Given the description of an element on the screen output the (x, y) to click on. 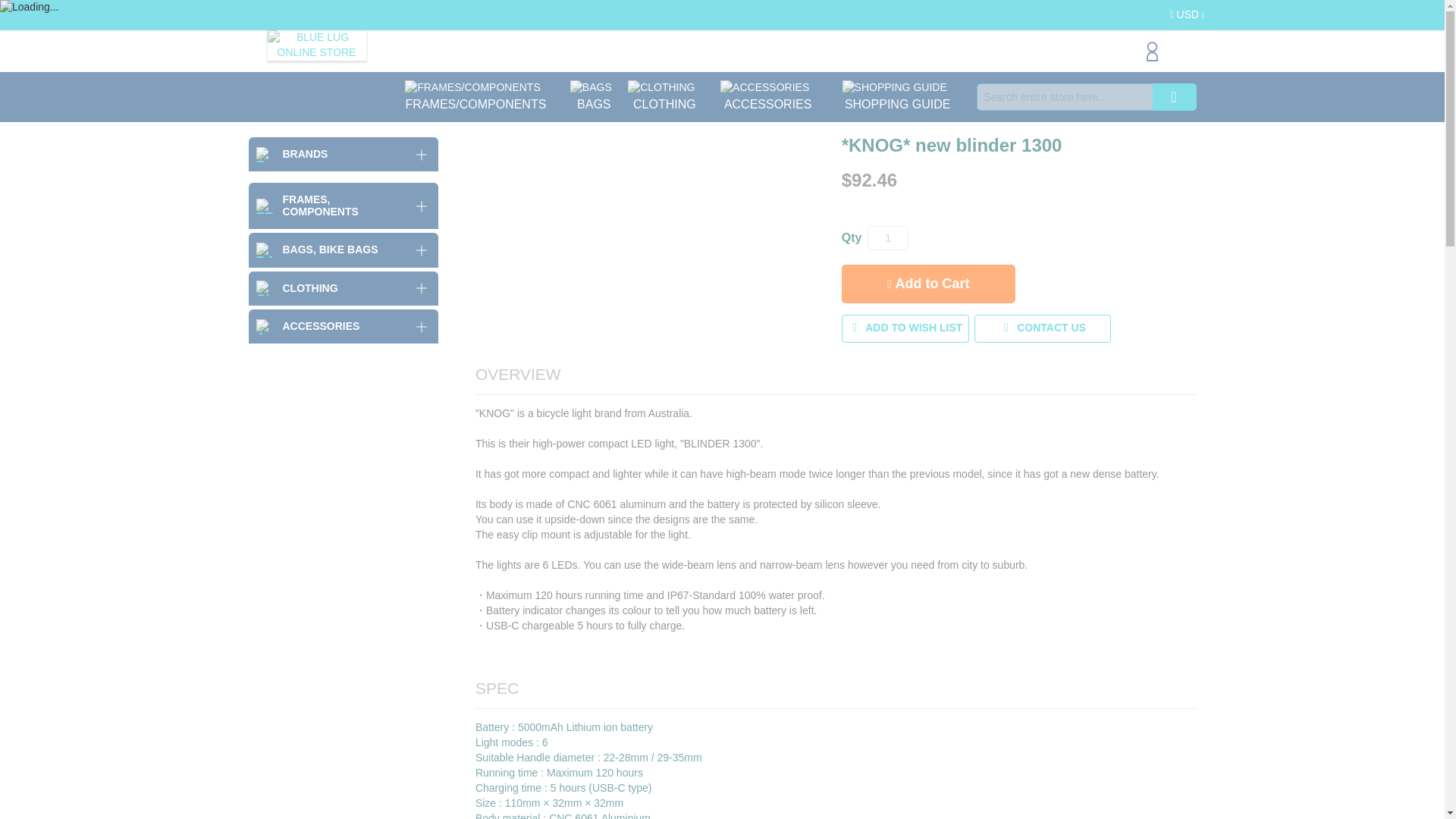
Qty (887, 238)
Search (1174, 96)
BLUE LUG ONLINE STORE (315, 45)
BAGS (590, 96)
BLUE LUG ONLINE STORE (894, 96)
1 (315, 45)
BRANDS (887, 238)
Add to Cart (343, 154)
ACCESSORIES (927, 283)
